Given the description of an element on the screen output the (x, y) to click on. 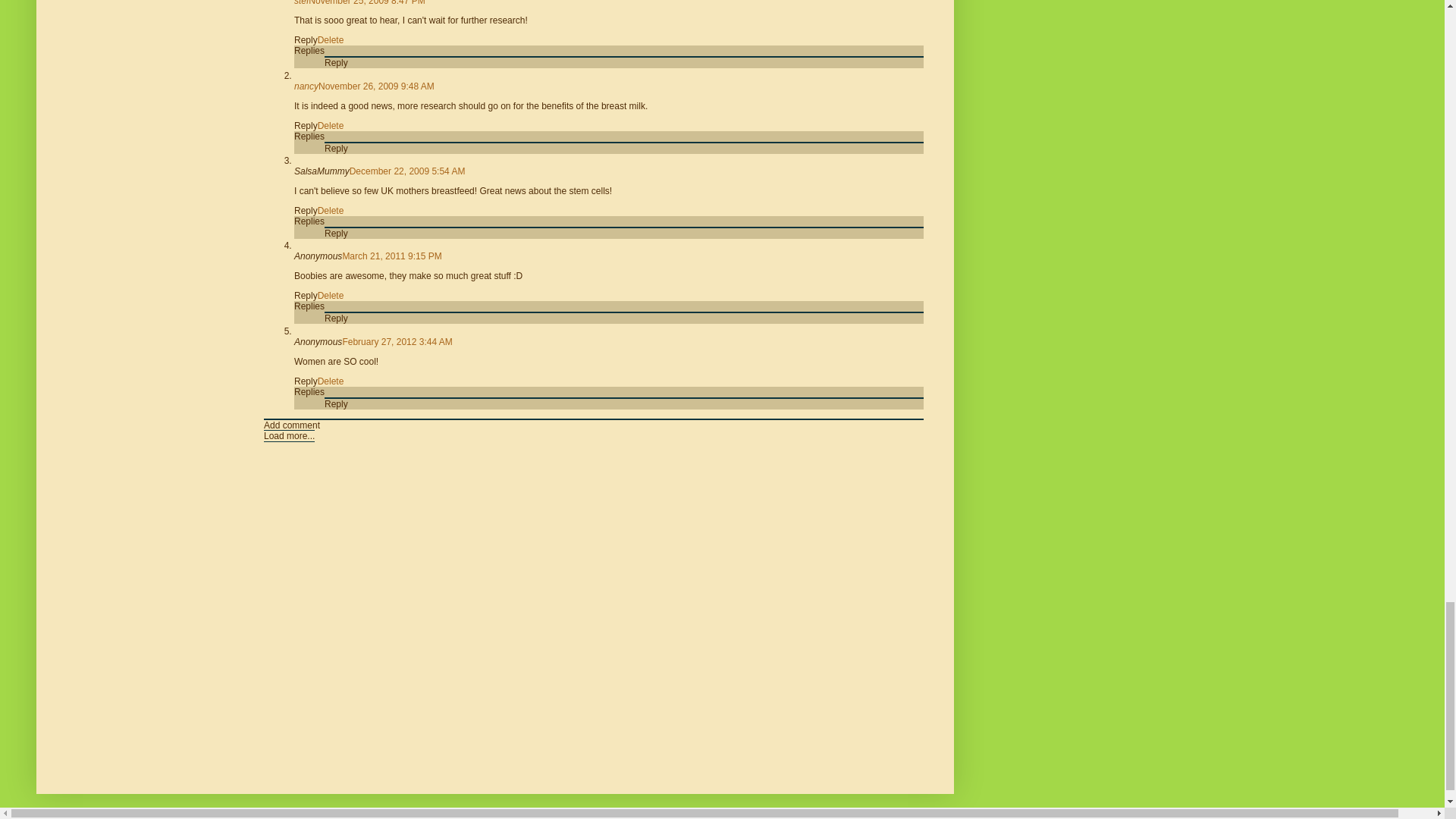
Delete (330, 40)
Replies (309, 50)
November 25, 2009 8:47 PM (366, 2)
stef (301, 2)
Reply (305, 40)
